Given the description of an element on the screen output the (x, y) to click on. 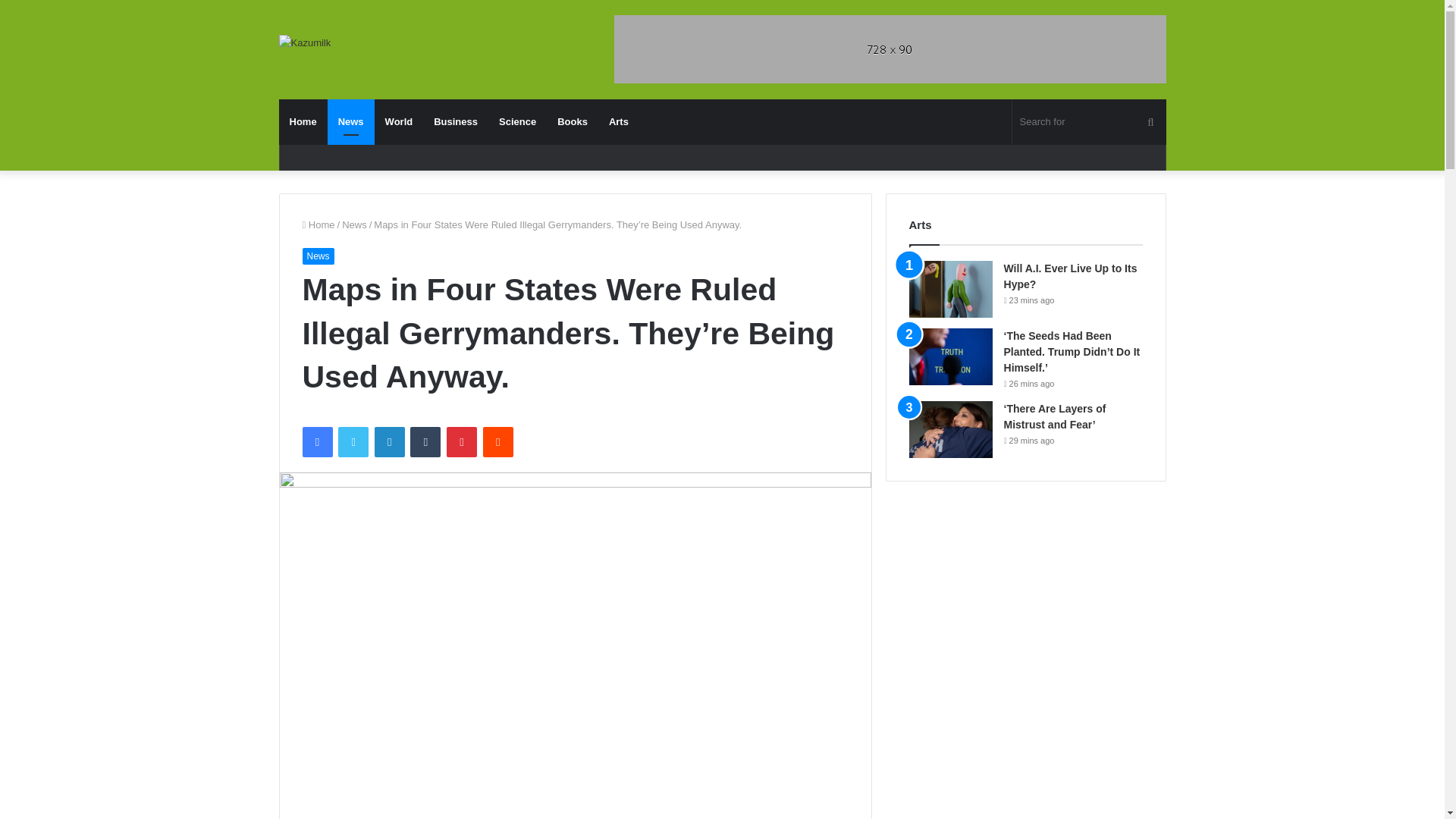
Reddit (498, 441)
Pinterest (461, 441)
Reddit (498, 441)
Home (317, 224)
Home (303, 121)
Facebook (316, 441)
Business (455, 121)
Facebook (316, 441)
Twitter (352, 441)
Kazumilk (305, 42)
